Given the description of an element on the screen output the (x, y) to click on. 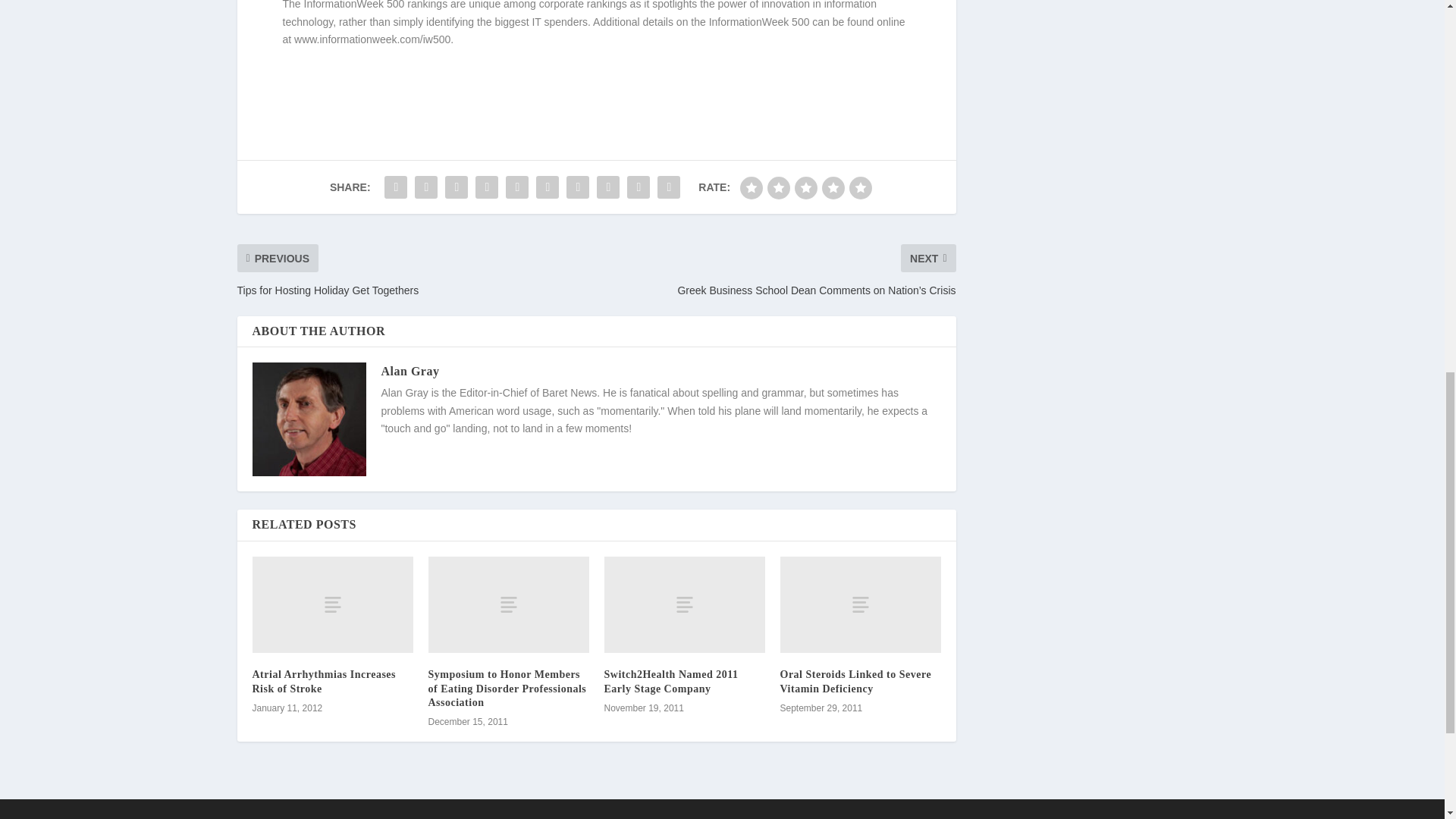
bad (750, 187)
poor (778, 187)
